Given the description of an element on the screen output the (x, y) to click on. 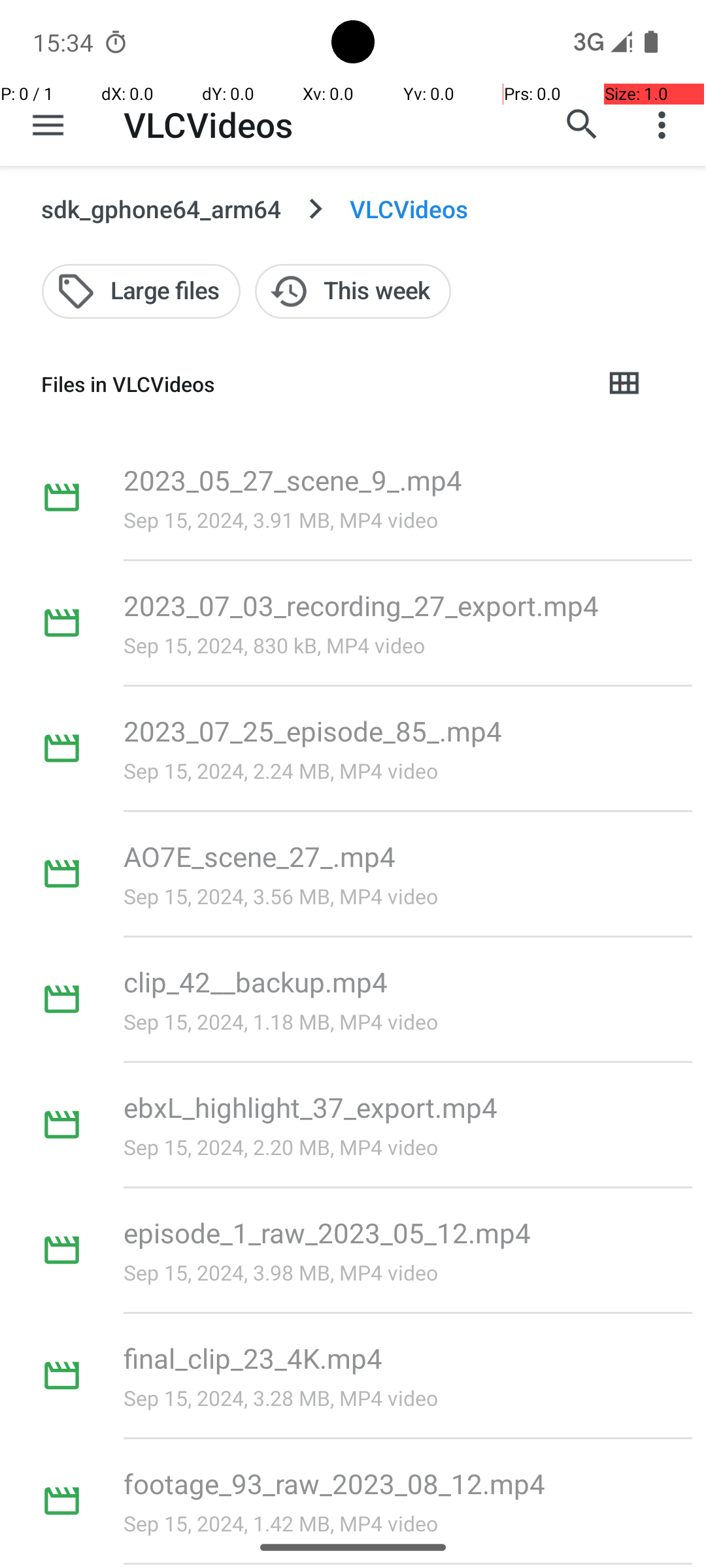
Files in VLCVideos Element type: android.widget.TextView (311, 383)
2023_05_27_scene_9_.mp4 Element type: android.widget.TextView (292, 479)
Sep 15, 2024, 3.91 MB, MP4 video Element type: android.widget.TextView (280, 519)
2023_07_03_recording_27_export.mp4 Element type: android.widget.TextView (361, 604)
Sep 15, 2024, 830 kB, MP4 video Element type: android.widget.TextView (273, 645)
2023_07_25_episode_85_.mp4 Element type: android.widget.TextView (312, 730)
Sep 15, 2024, 2.24 MB, MP4 video Element type: android.widget.TextView (280, 770)
AO7E_scene_27_.mp4 Element type: android.widget.TextView (259, 855)
Sep 15, 2024, 3.56 MB, MP4 video Element type: android.widget.TextView (280, 896)
clip_42__backup.mp4 Element type: android.widget.TextView (255, 981)
Sep 15, 2024, 1.18 MB, MP4 video Element type: android.widget.TextView (280, 1021)
ebxL_highlight_37_export.mp4 Element type: android.widget.TextView (310, 1106)
Sep 15, 2024, 2.20 MB, MP4 video Element type: android.widget.TextView (280, 1146)
episode_1_raw_2023_05_12.mp4 Element type: android.widget.TextView (327, 1232)
Sep 15, 2024, 3.98 MB, MP4 video Element type: android.widget.TextView (280, 1272)
final_clip_23_4K.mp4 Element type: android.widget.TextView (252, 1357)
Sep 15, 2024, 3.28 MB, MP4 video Element type: android.widget.TextView (280, 1397)
footage_93_raw_2023_08_12.mp4 Element type: android.widget.TextView (334, 1483)
Sep 15, 2024, 1.42 MB, MP4 video Element type: android.widget.TextView (280, 1523)
